Given the description of an element on the screen output the (x, y) to click on. 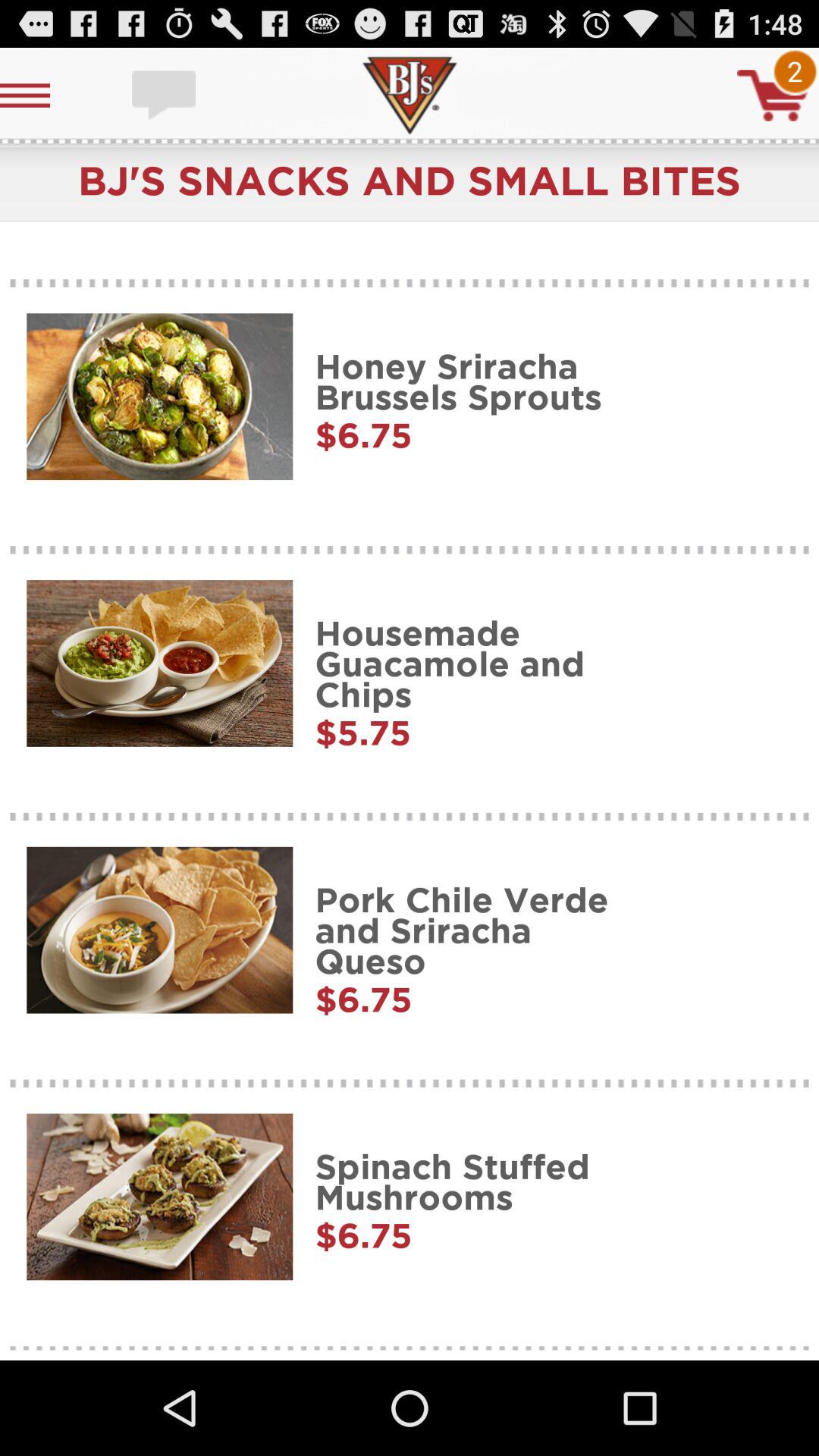
shopping cart (772, 95)
